Given the description of an element on the screen output the (x, y) to click on. 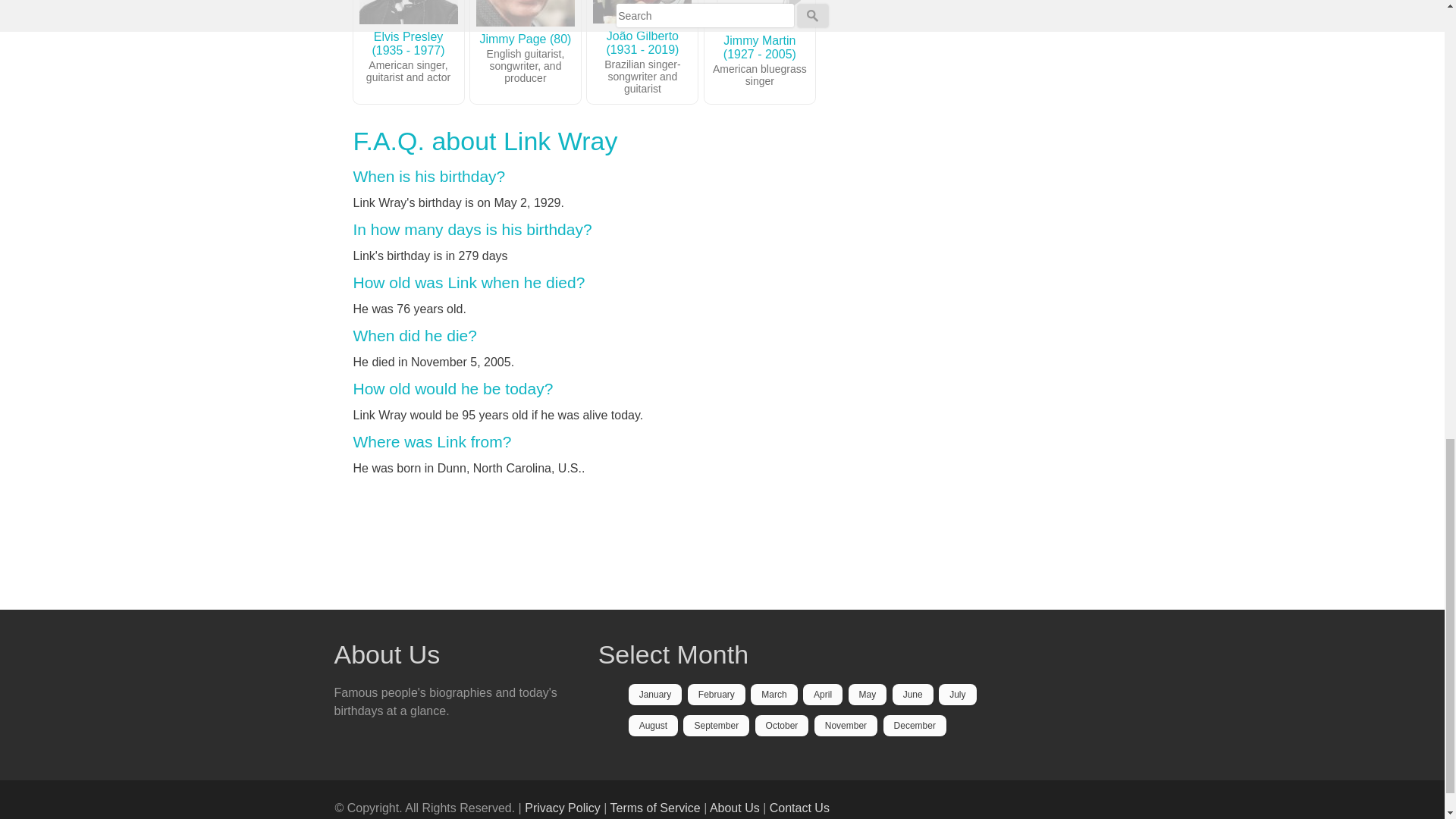
Elvis Presley (408, 12)
Jimmy Page (525, 13)
Jimmy Martin (759, 13)
